Given the description of an element on the screen output the (x, y) to click on. 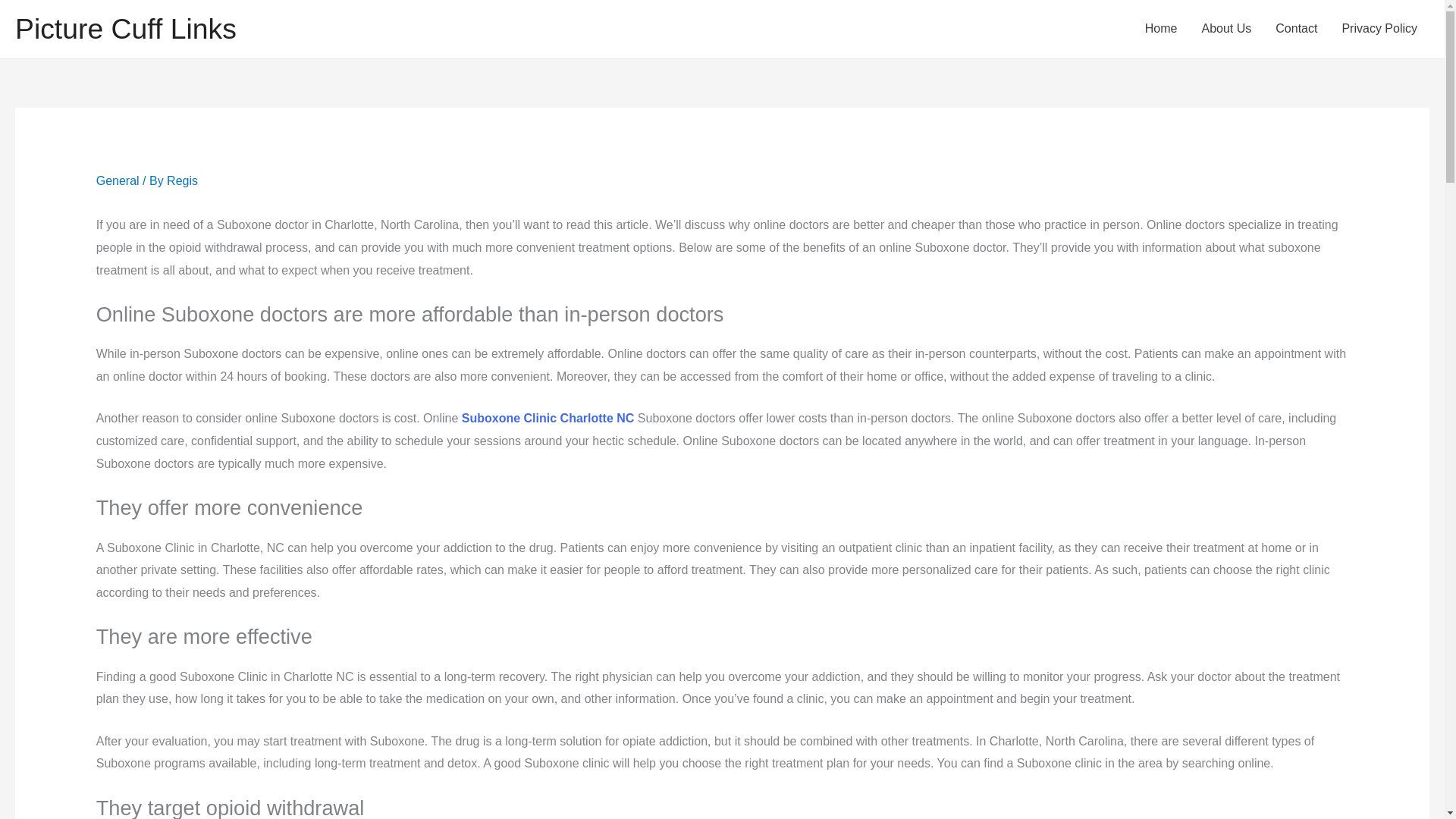
Home (1160, 29)
About Us (1226, 29)
Privacy Policy (1379, 29)
Suboxone Clinic Charlotte NC (547, 418)
General (117, 180)
Contact (1296, 29)
Regis (182, 180)
View all posts by Regis (182, 180)
Picture Cuff Links (124, 29)
